Given the description of an element on the screen output the (x, y) to click on. 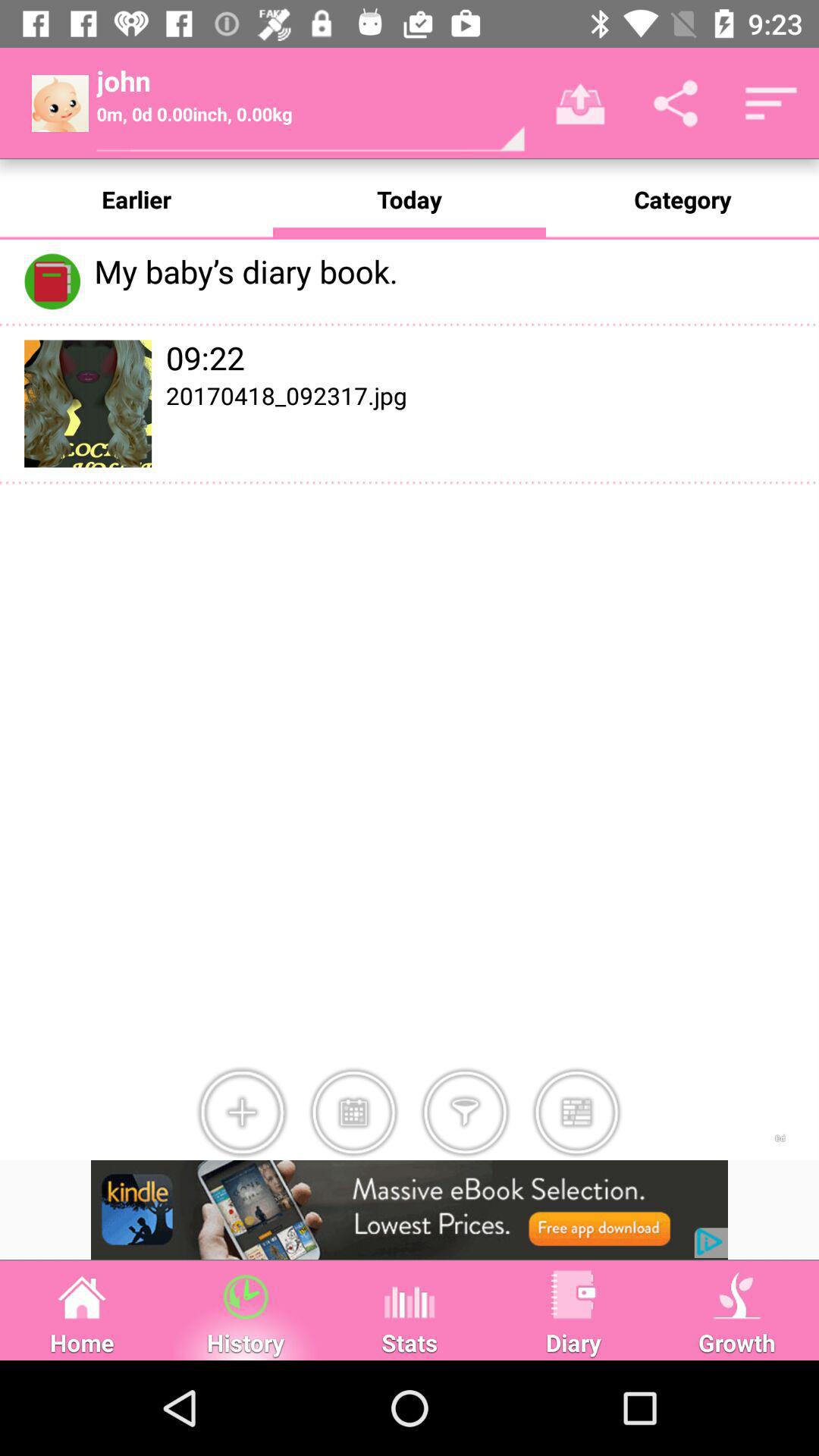
go to advertisement (409, 1209)
